Given the description of an element on the screen output the (x, y) to click on. 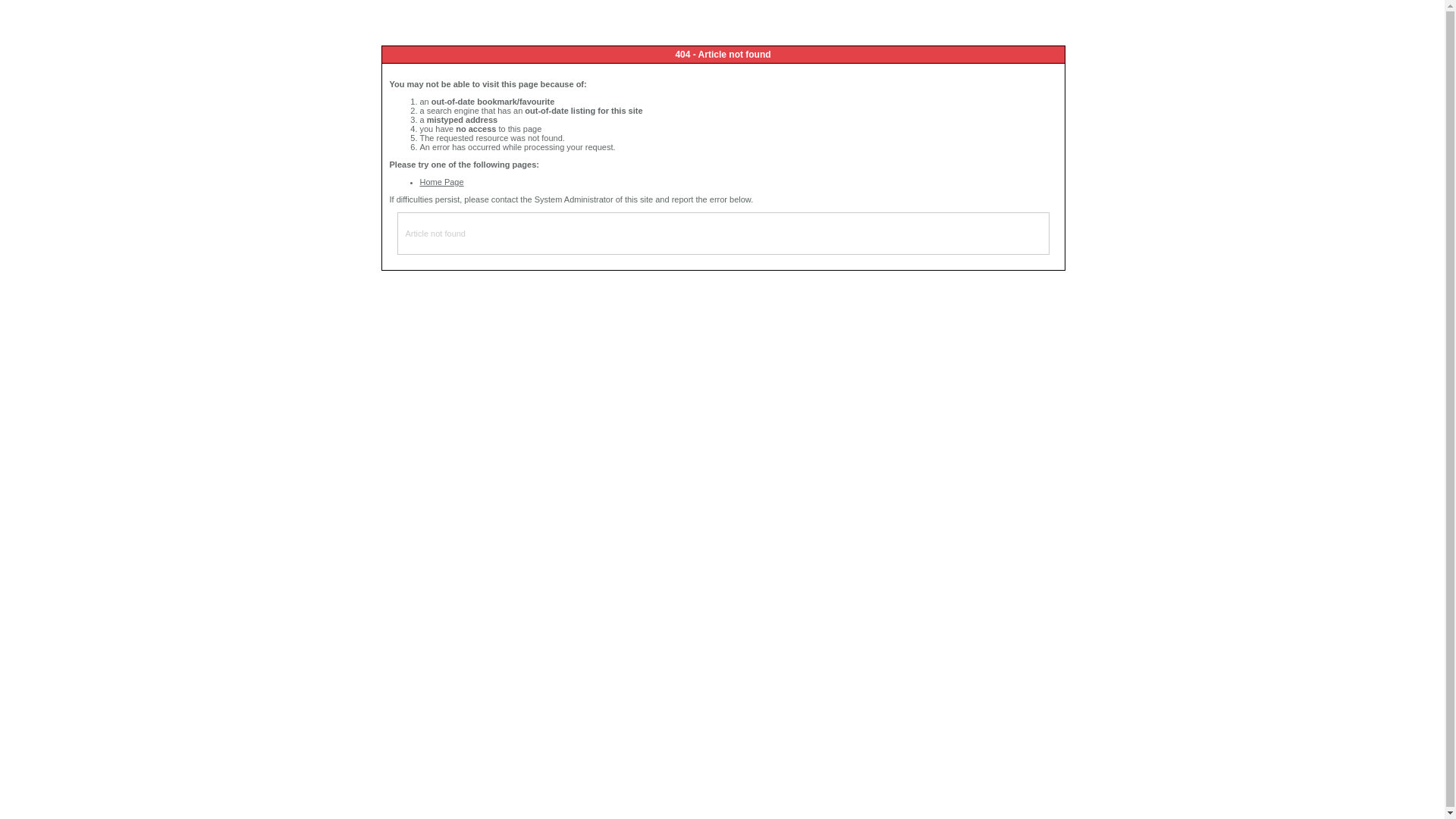
Home Page Element type: text (442, 181)
